Given the description of an element on the screen output the (x, y) to click on. 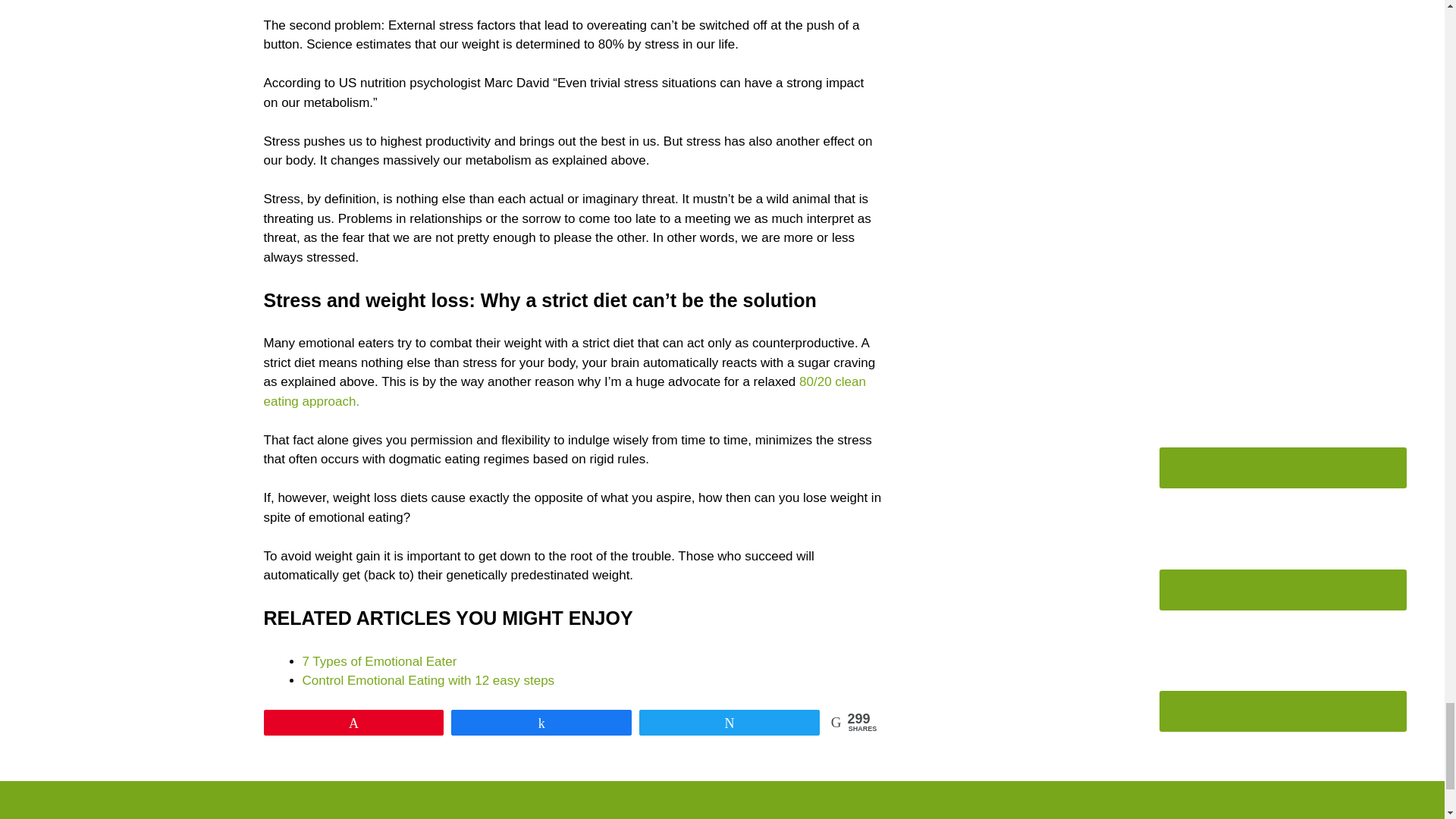
Twitter (1282, 772)
Instagram (1282, 540)
Facebook (1282, 418)
Pinterest (1282, 661)
